Given the description of an element on the screen output the (x, y) to click on. 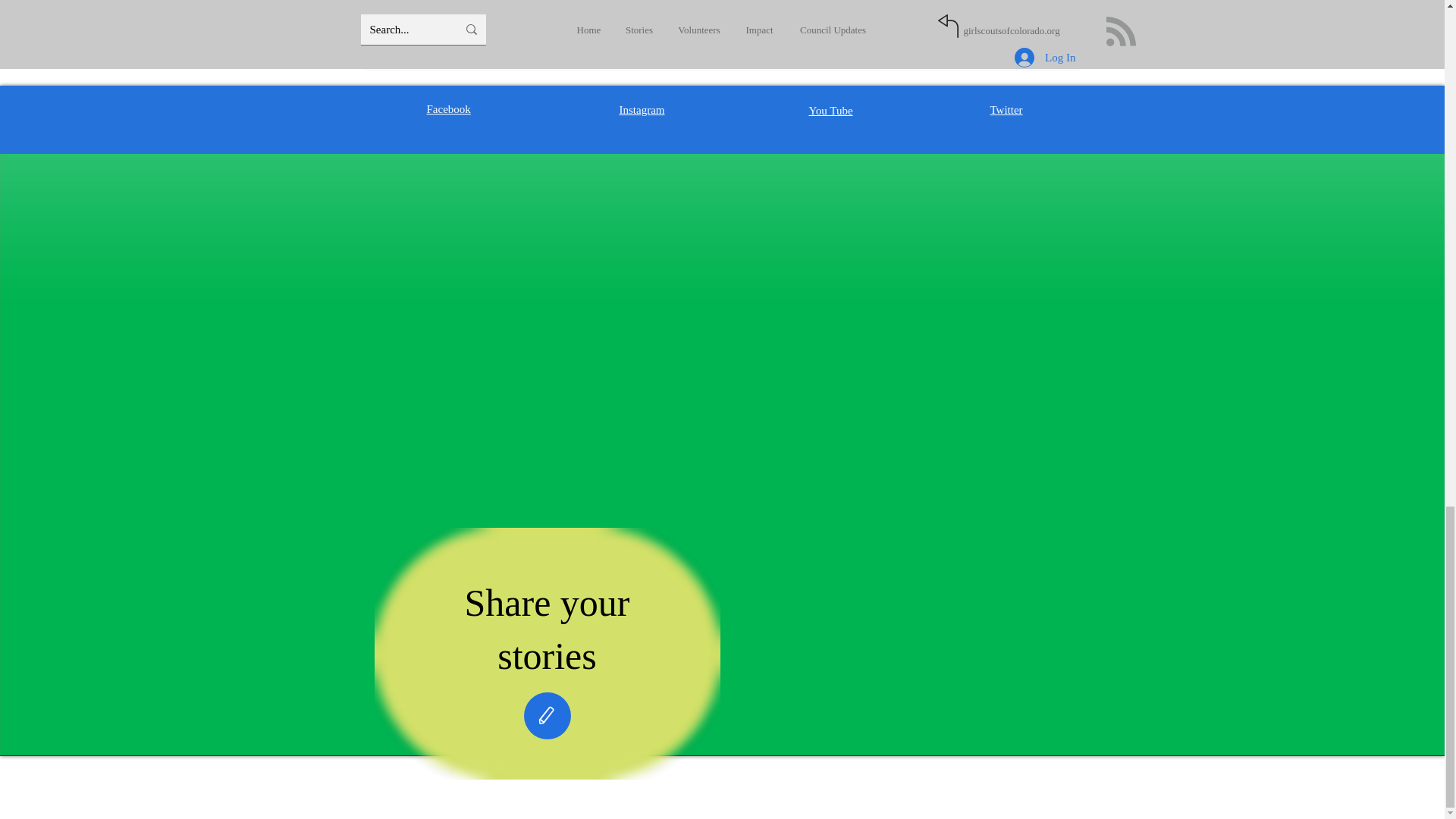
Facebook (448, 109)
Twitter (1006, 110)
Post not marked as liked (995, 16)
Instagram (640, 110)
You Tube (829, 110)
